Given the description of an element on the screen output the (x, y) to click on. 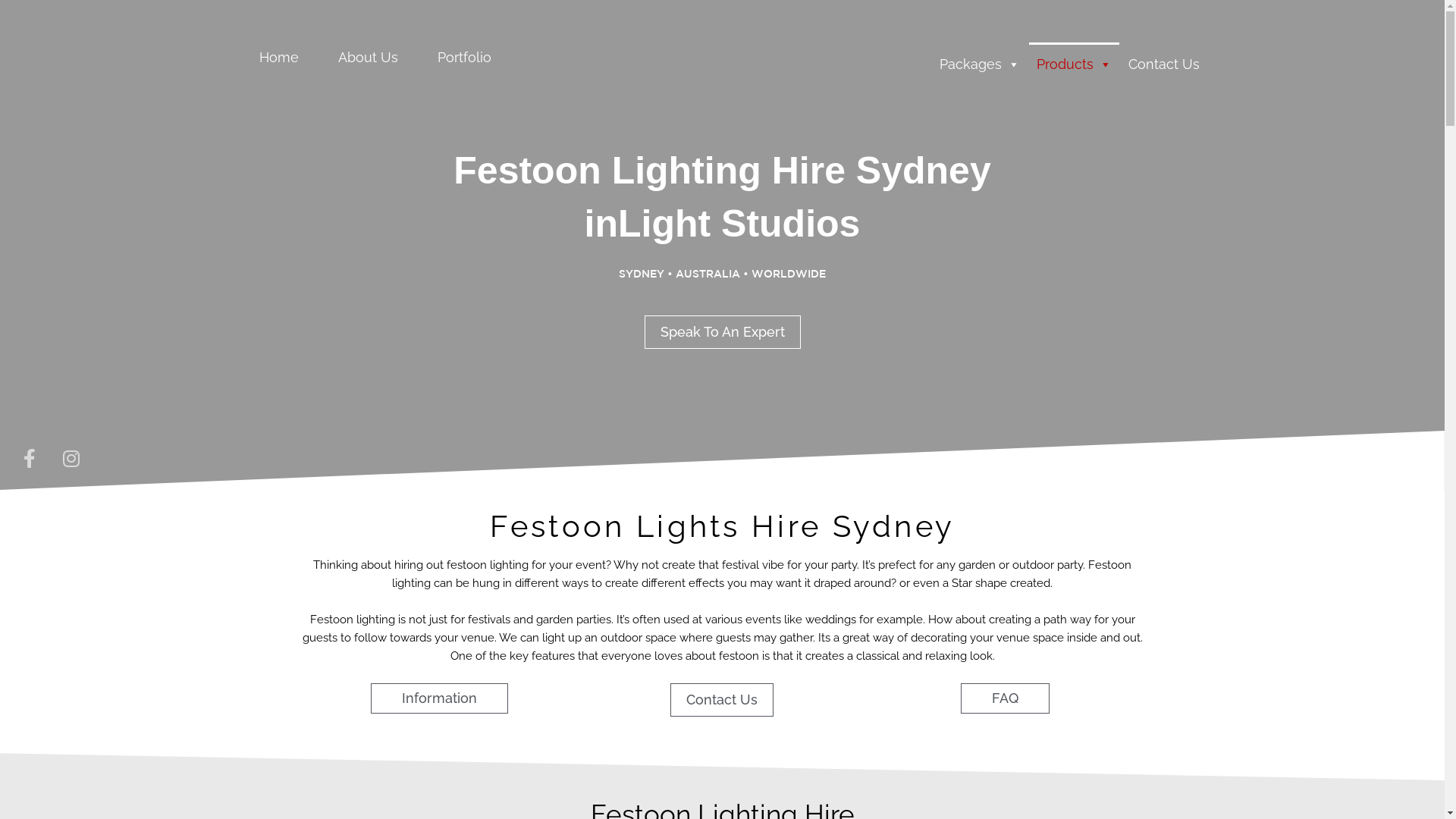
About Us Element type: text (367, 57)
Information Element type: text (439, 698)
Search Element type: text (1005, 354)
Packages Element type: text (979, 57)
Products Element type: text (1074, 57)
Contact Us Element type: text (1163, 57)
Facebook-f Element type: text (29, 458)
Home Element type: text (278, 57)
Instagram Element type: text (71, 458)
FAQ Element type: text (1004, 698)
Portfolio Element type: text (464, 57)
